Given the description of an element on the screen output the (x, y) to click on. 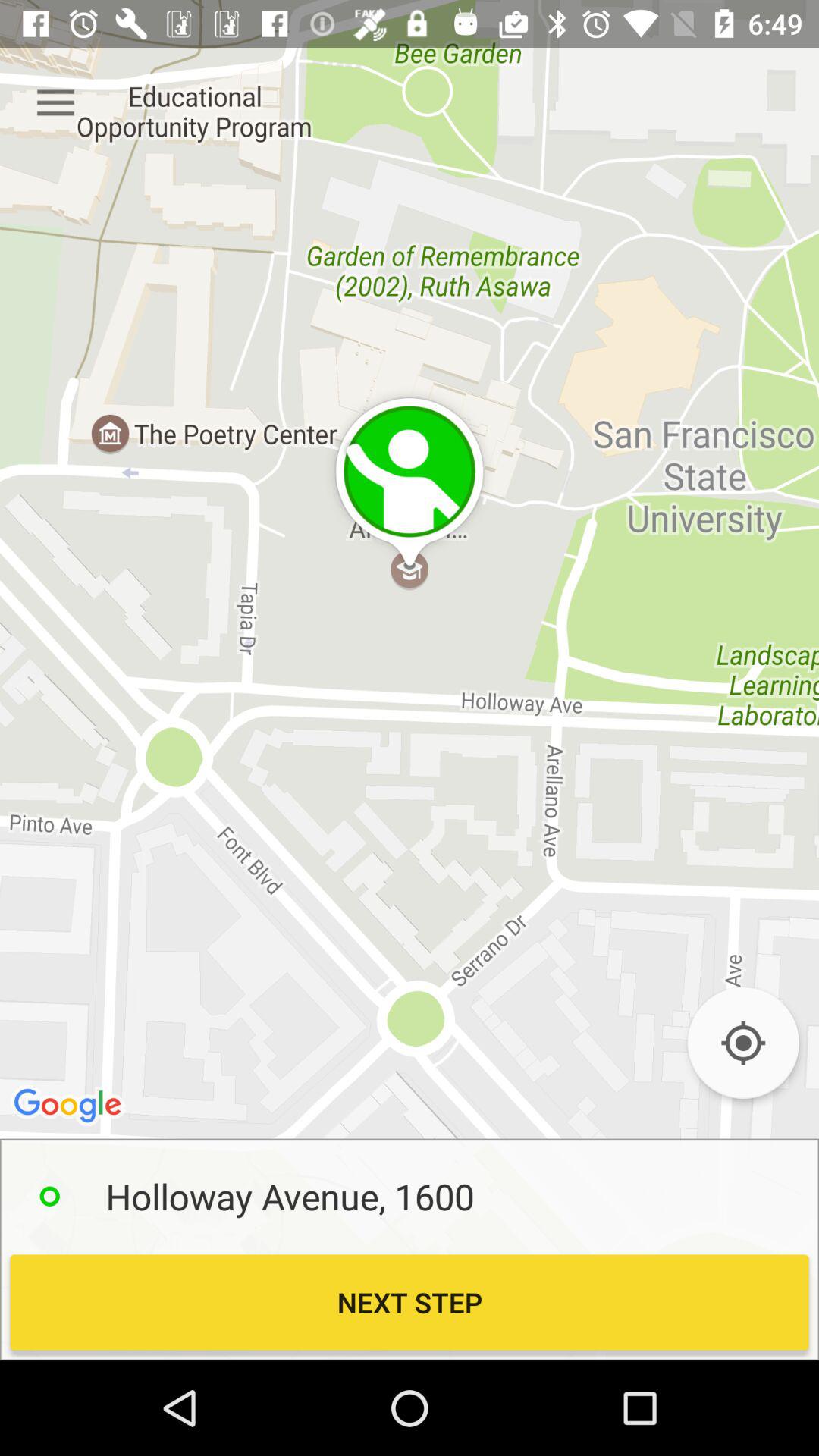
zoom in to your location (743, 1042)
